Given the description of an element on the screen output the (x, y) to click on. 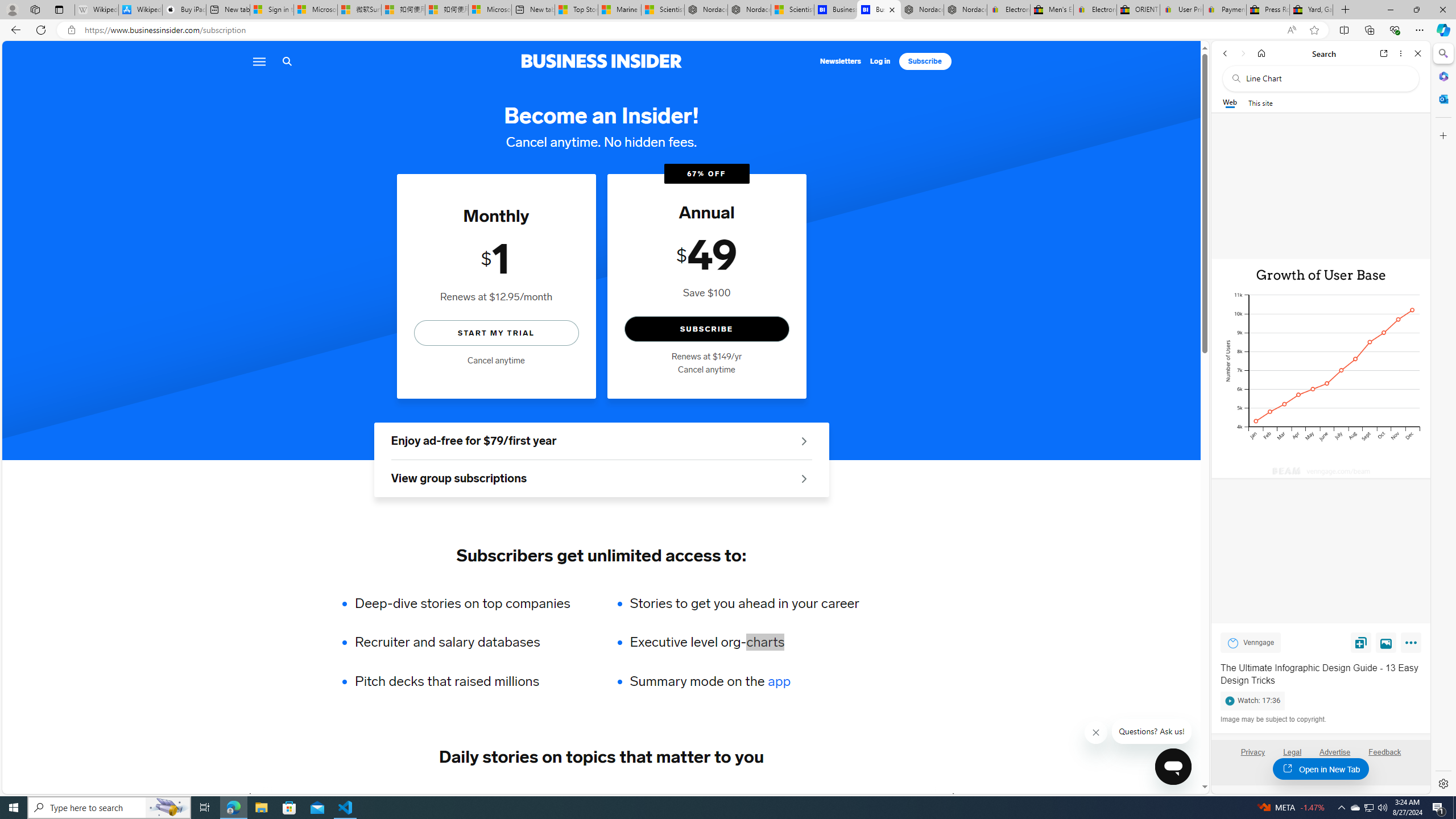
TECH (280, 796)
View group subscriptions See group offers (601, 478)
ADVERTISING (349, 796)
See group offers (803, 478)
Open messaging window (1172, 766)
Search icon (286, 61)
Summary mode on the app (743, 681)
Close message from company (1096, 732)
